Given the description of an element on the screen output the (x, y) to click on. 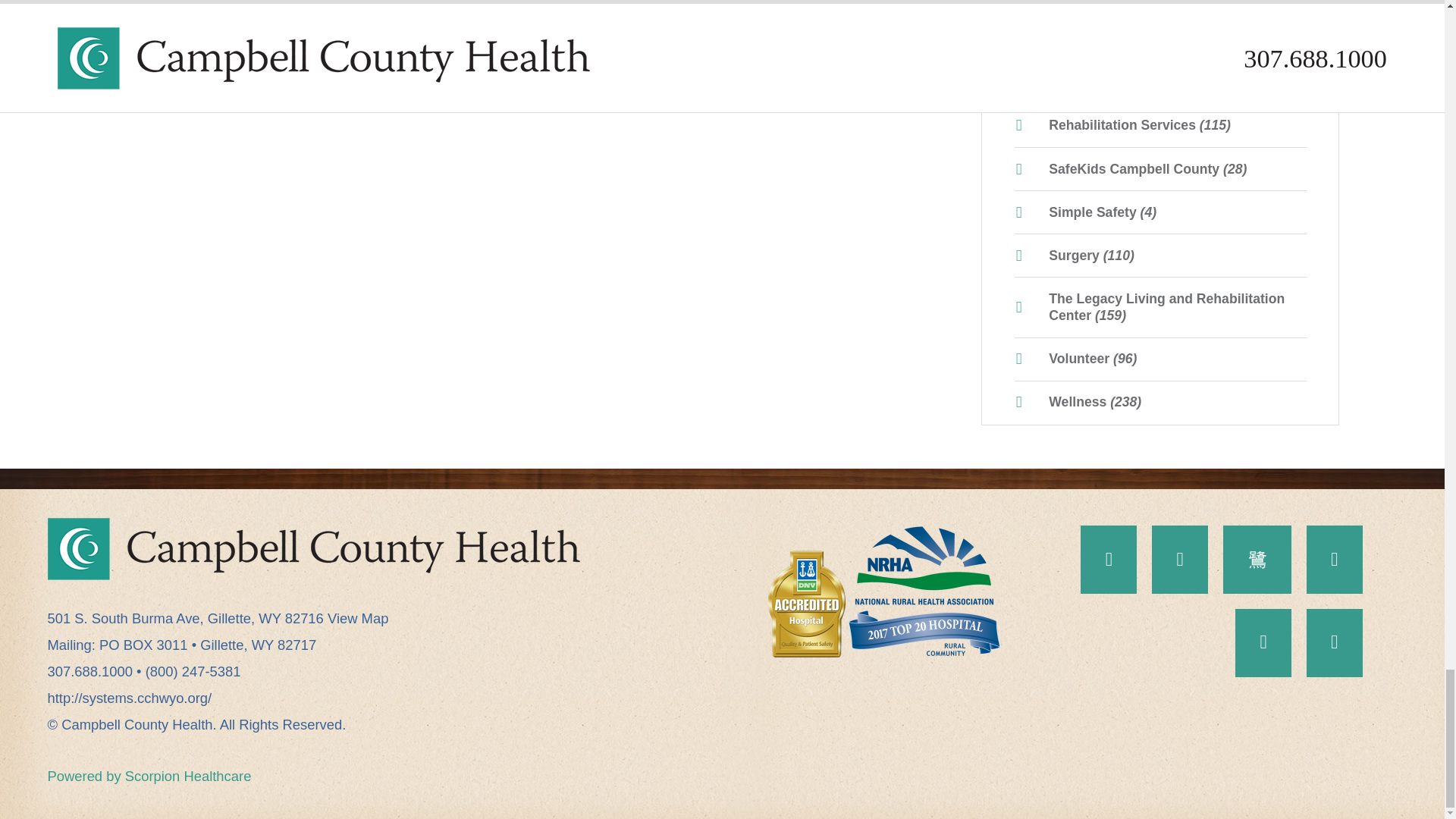
Campbell County Health (312, 548)
